Given the description of an element on the screen output the (x, y) to click on. 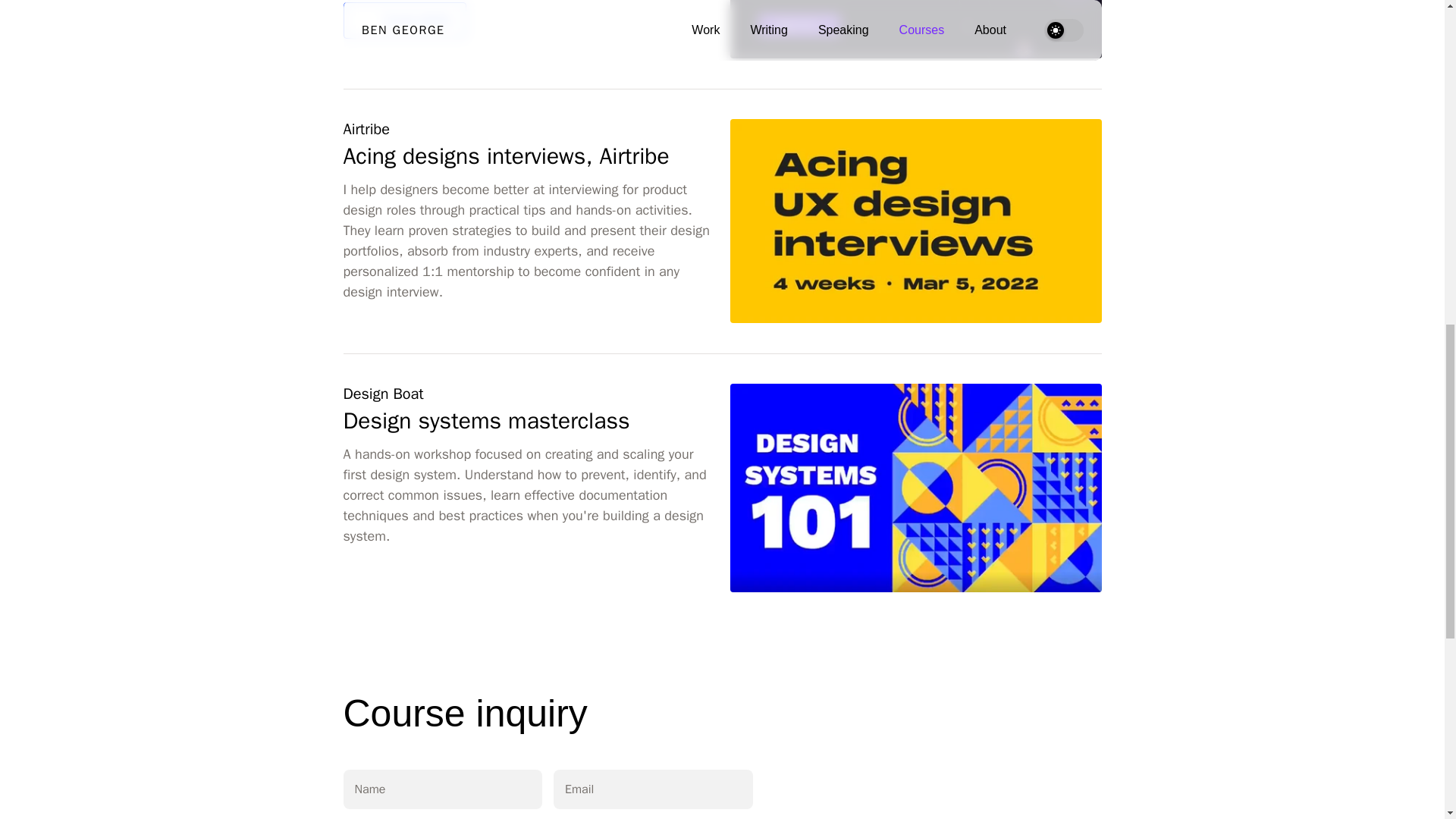
Course details (403, 20)
